Given the description of an element on the screen output the (x, y) to click on. 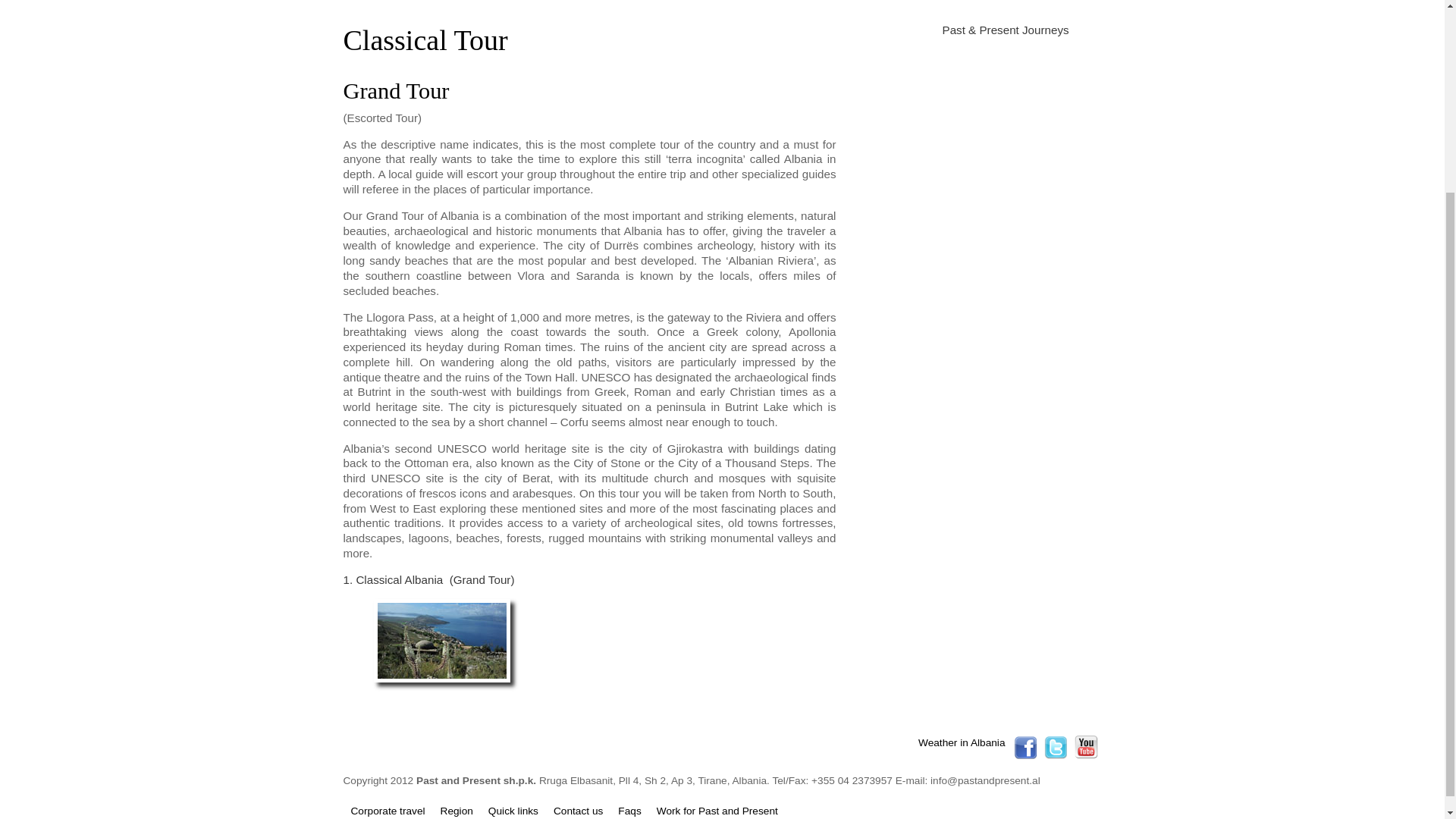
Region (457, 810)
You Tube (1085, 754)
Twitter (1054, 755)
Contact us (577, 810)
Facebook (1024, 755)
Saranda (440, 640)
Faqs (628, 810)
Corporate travel (387, 810)
Work for Past and Present (716, 810)
Weather in Albania (962, 742)
